Given the description of an element on the screen output the (x, y) to click on. 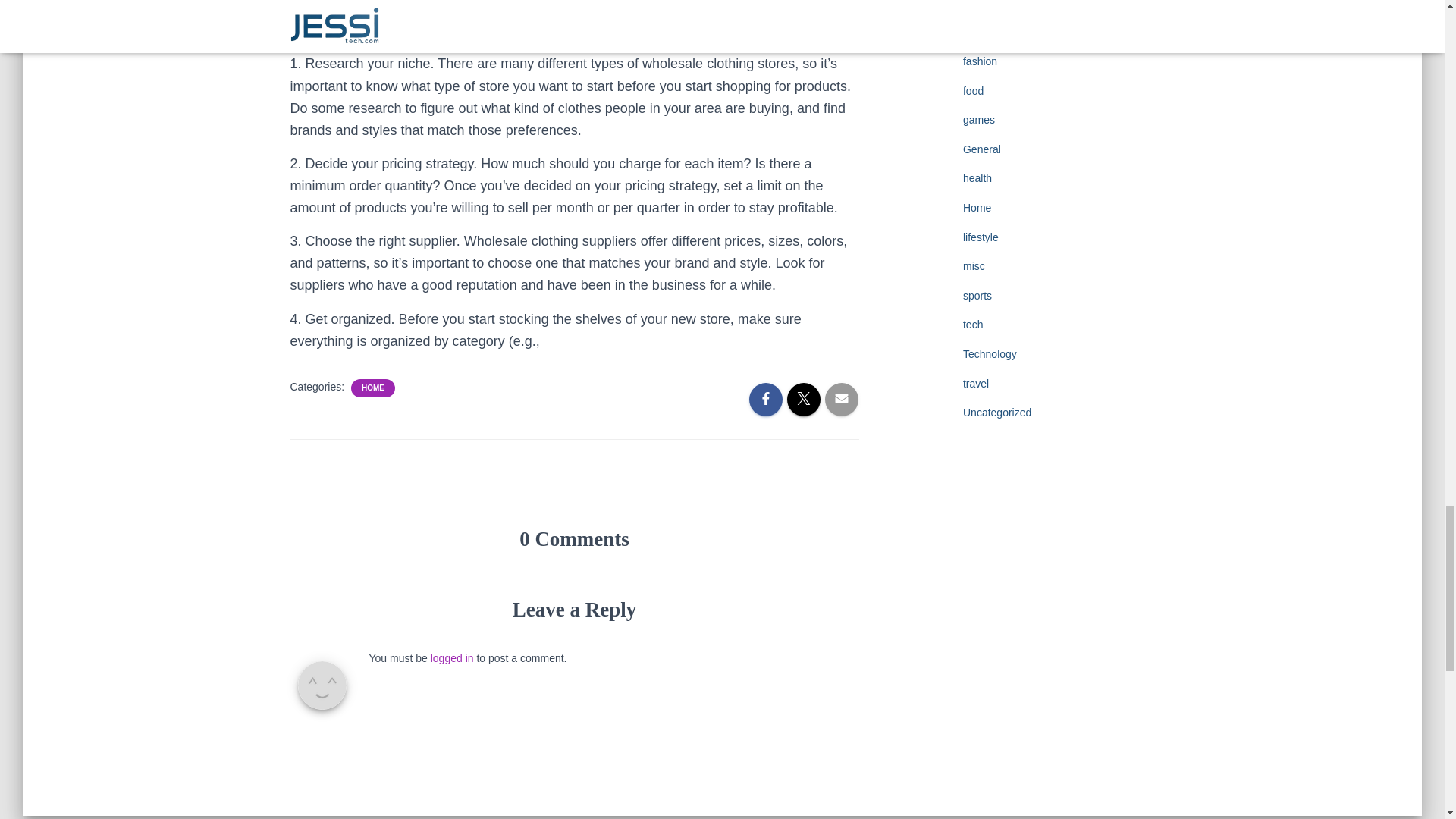
HOME (372, 388)
logged in (452, 657)
